Given the description of an element on the screen output the (x, y) to click on. 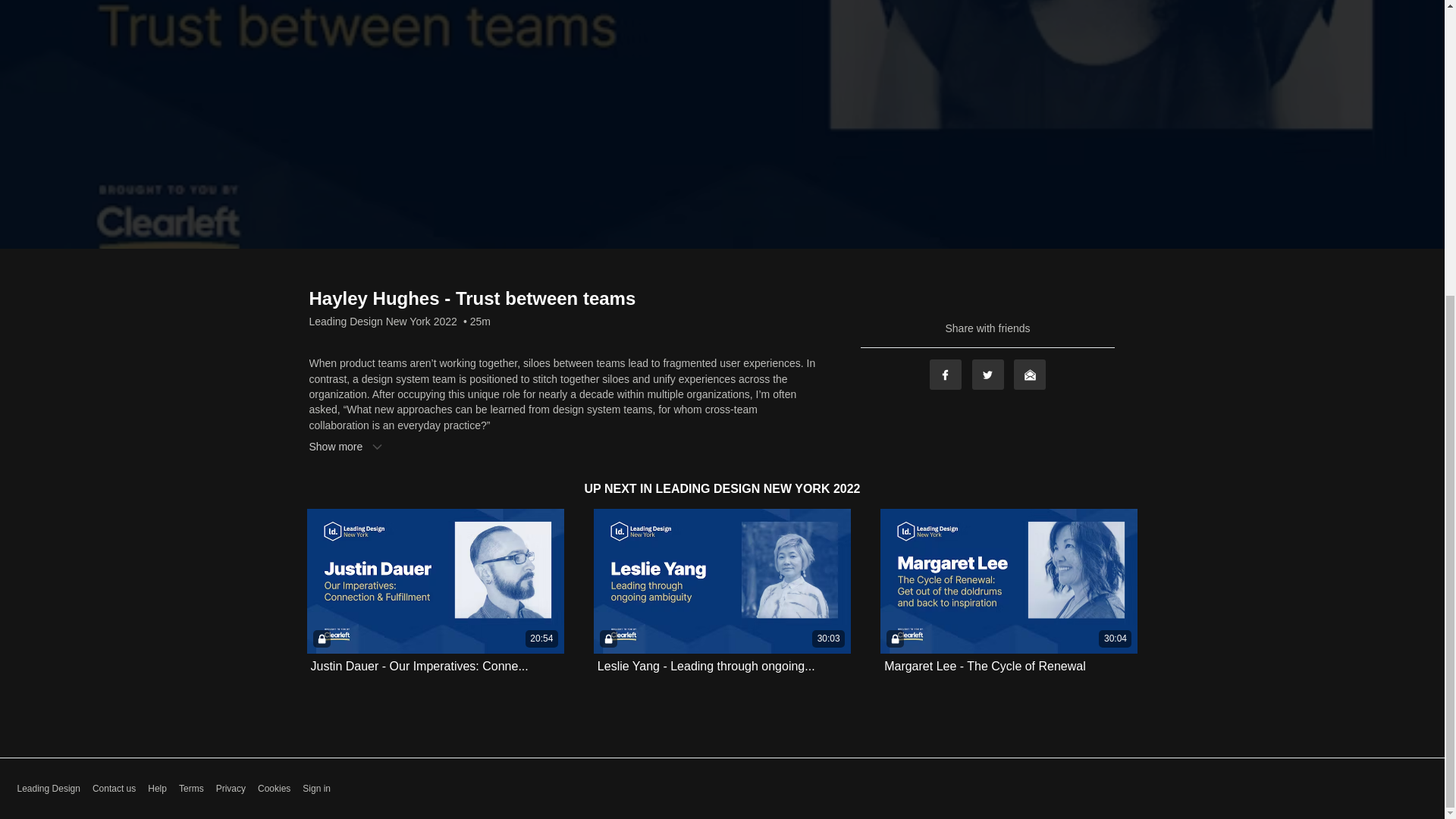
30:04 (1008, 580)
Leslie Yang - Leading through ongoing... (705, 666)
Contact us (114, 788)
Privacy (230, 788)
20:54 (434, 580)
Terms (191, 788)
Leslie Yang - Leading through ongoing... (705, 666)
Margaret Lee - The Cycle of Renewal (984, 666)
Sign in (316, 788)
Justin Dauer - Our Imperatives: Conne... (419, 666)
Justin Dauer - Our Imperatives: Conne... (419, 666)
Help (157, 788)
Margaret Lee - The Cycle of Renewal (984, 666)
Leading Design (48, 788)
LEADING DESIGN NEW YORK 2022 (757, 488)
